Given the description of an element on the screen output the (x, y) to click on. 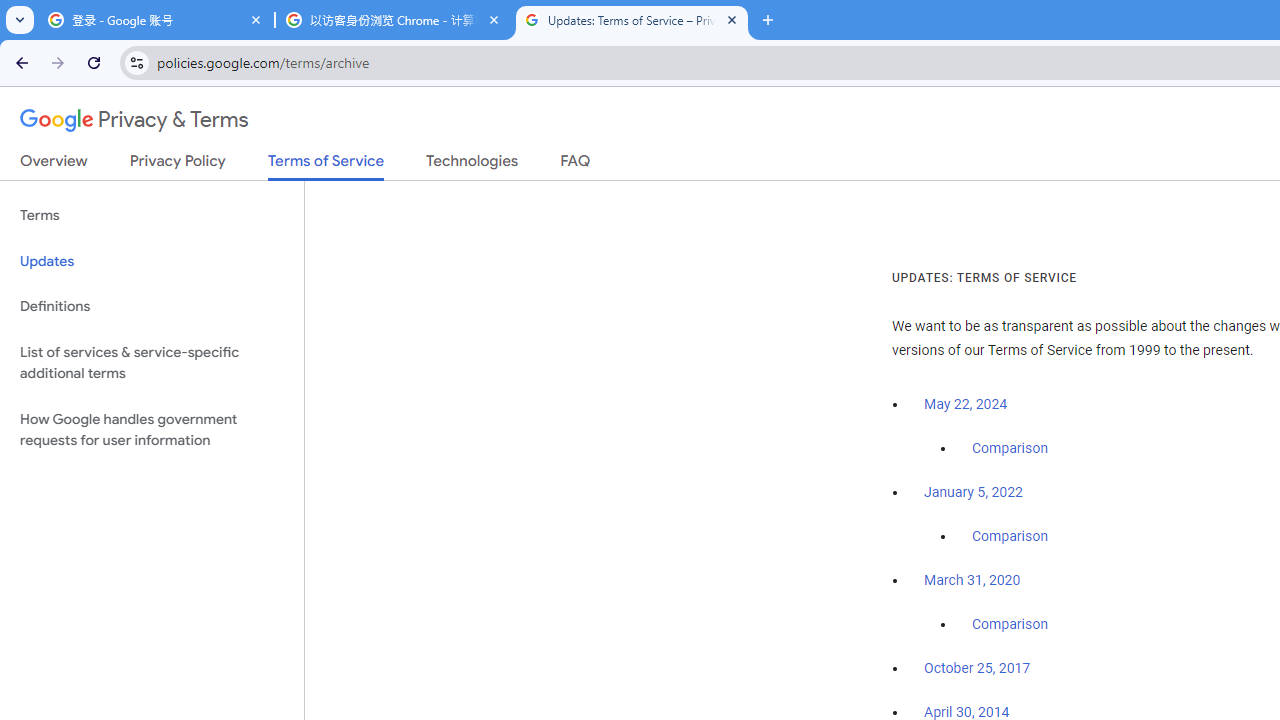
May 22, 2024 (966, 404)
January 5, 2022 (973, 492)
October 25, 2017 (977, 669)
March 31, 2020 (972, 580)
List of services & service-specific additional terms (152, 362)
